Given the description of an element on the screen output the (x, y) to click on. 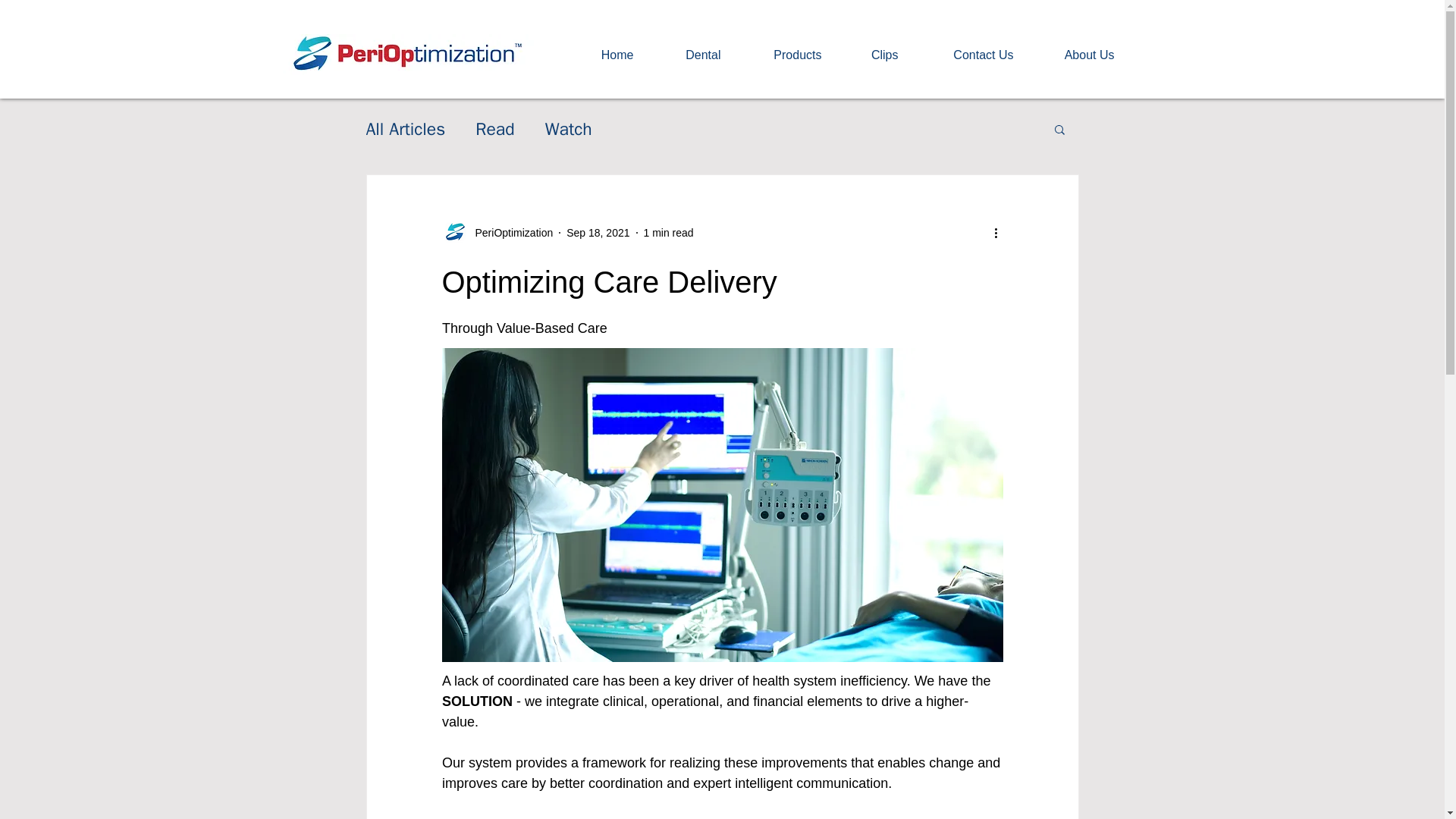
PeriOptimization  (509, 232)
Products (782, 55)
1 min read (668, 232)
Sep 18, 2021 (597, 232)
Dental (688, 55)
Home (602, 55)
Clips (870, 55)
All Articles (405, 128)
PeriOptimization (497, 232)
About Us (1075, 55)
Read (494, 128)
Contact Us (967, 55)
Watch (568, 128)
